Given the description of an element on the screen output the (x, y) to click on. 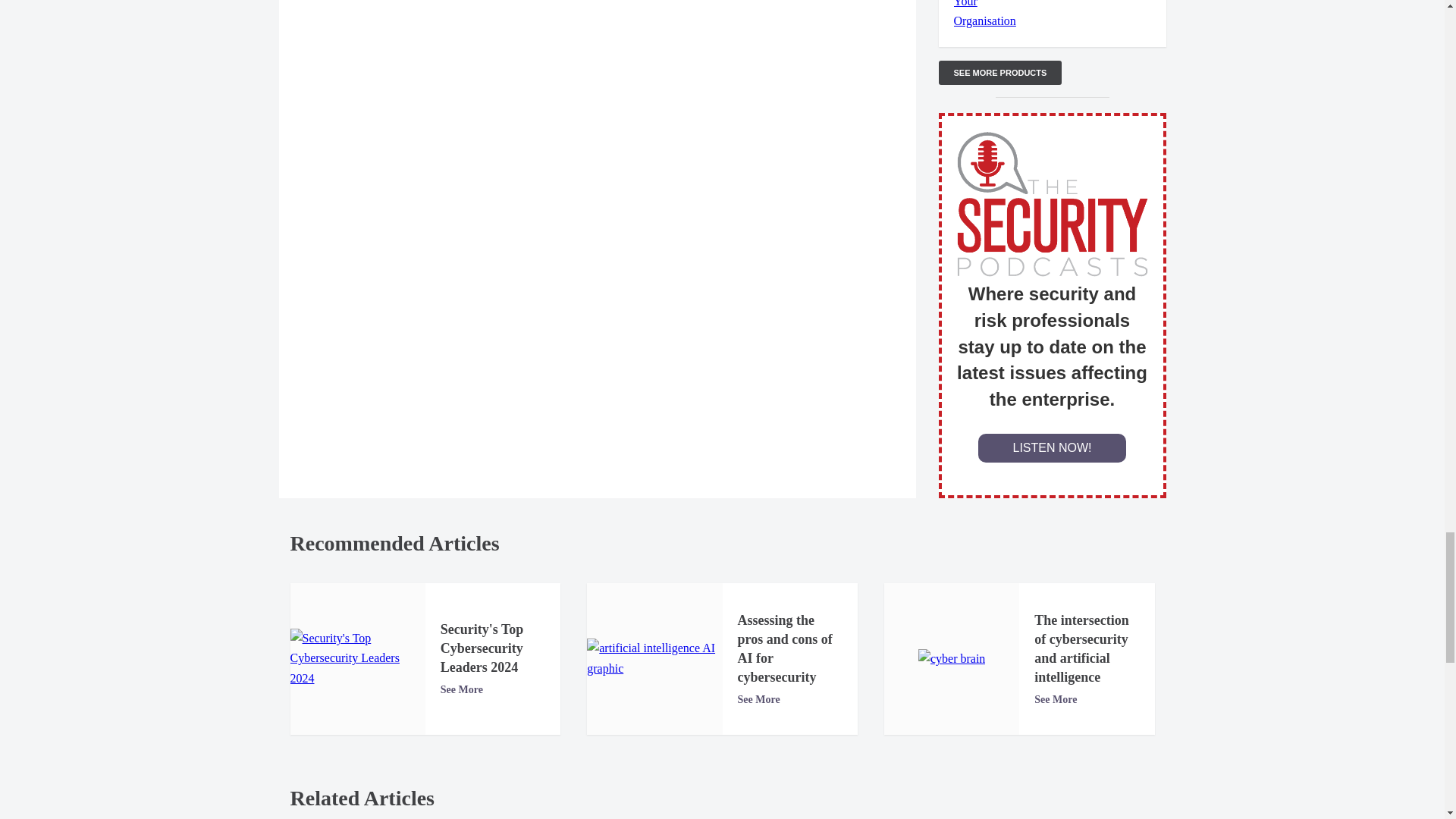
cyber brain (951, 659)
Artificial Intelligence (654, 658)
Security's Top Cybersecurity Leaders 2024 (357, 658)
